Given the description of an element on the screen output the (x, y) to click on. 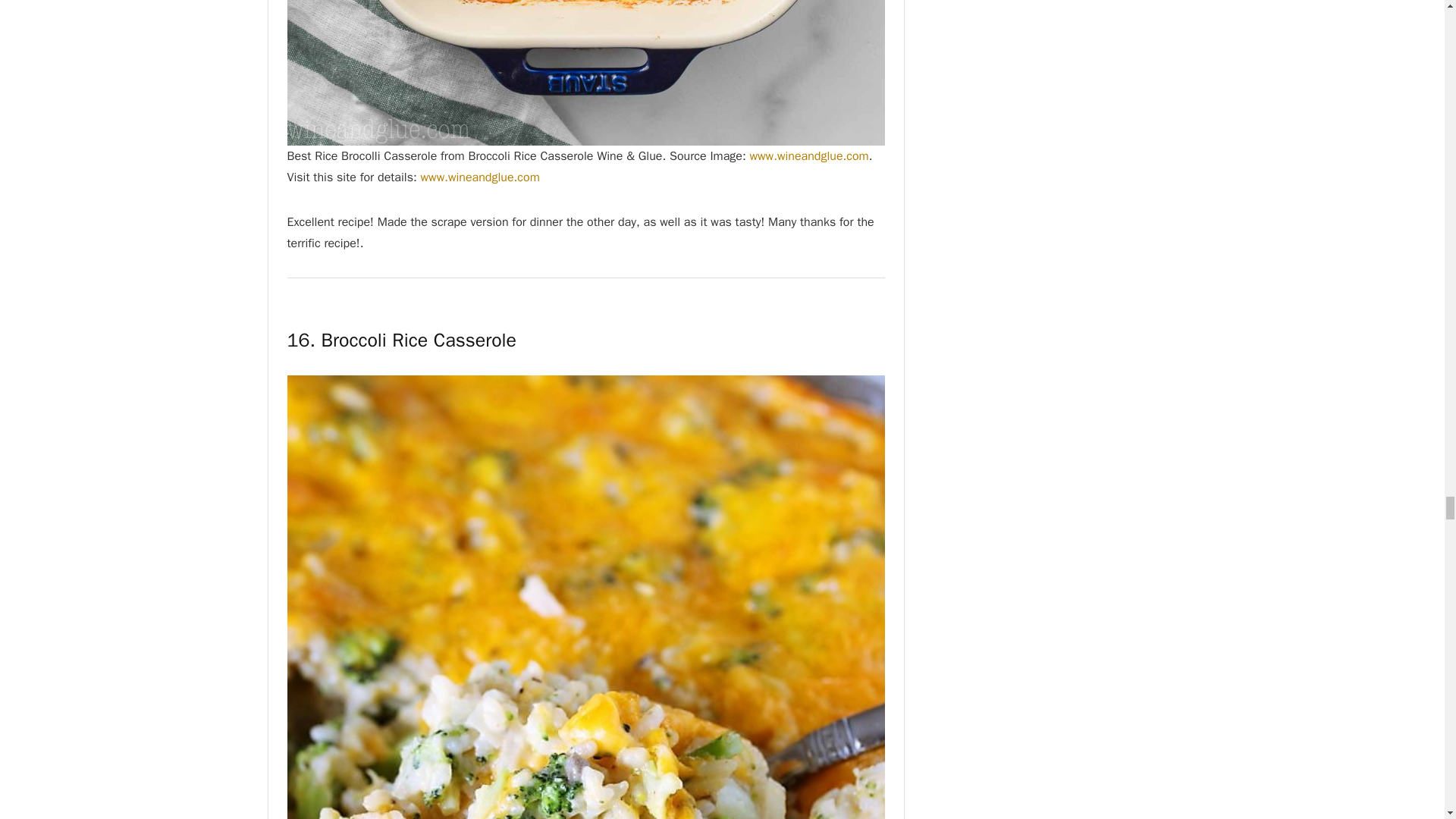
broccoli rice casserole (584, 72)
